Given the description of an element on the screen output the (x, y) to click on. 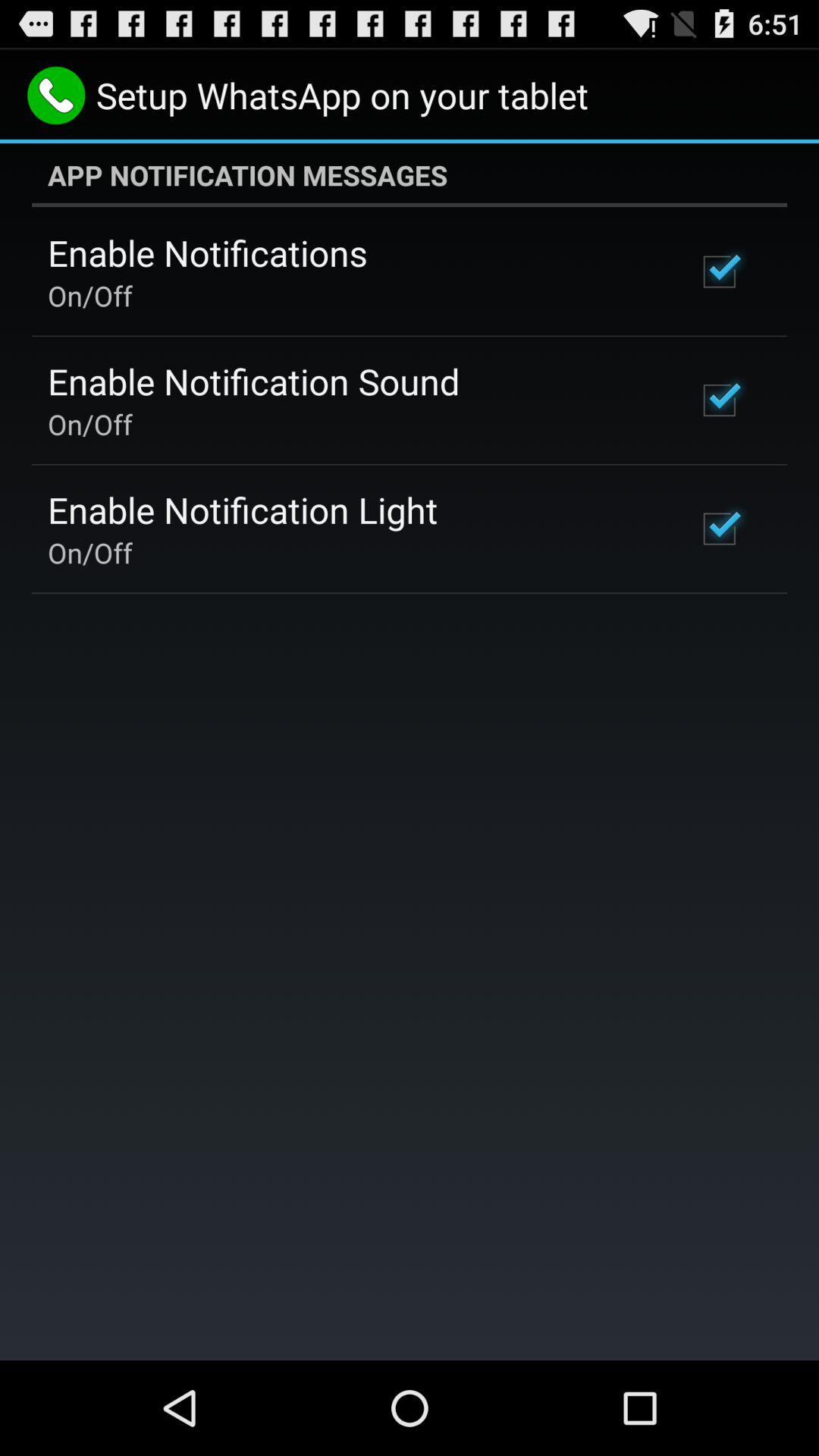
swipe until enable notifications app (207, 252)
